Given the description of an element on the screen output the (x, y) to click on. 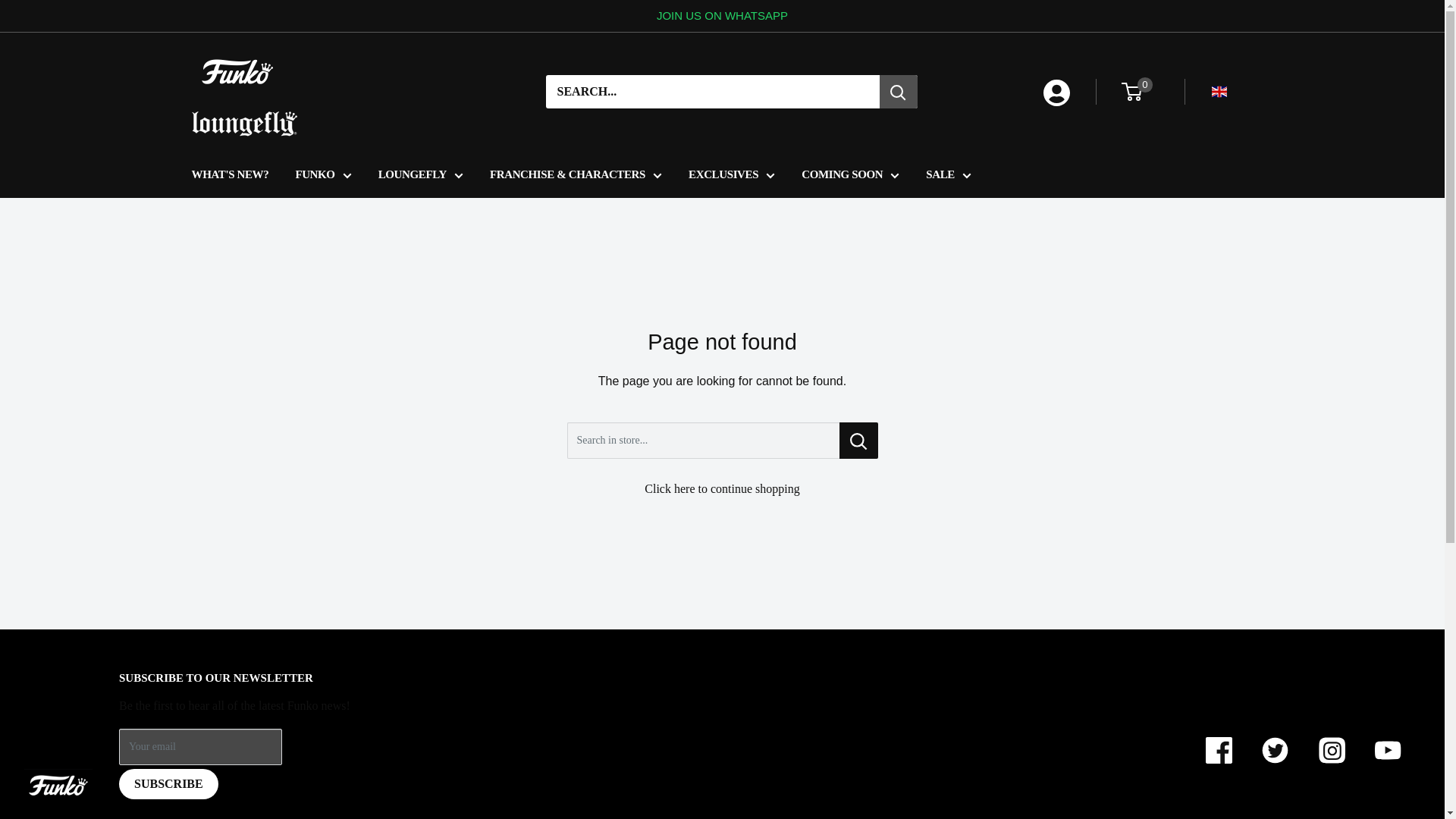
JOIN US ON WHATSAPP (721, 15)
